Given the description of an element on the screen output the (x, y) to click on. 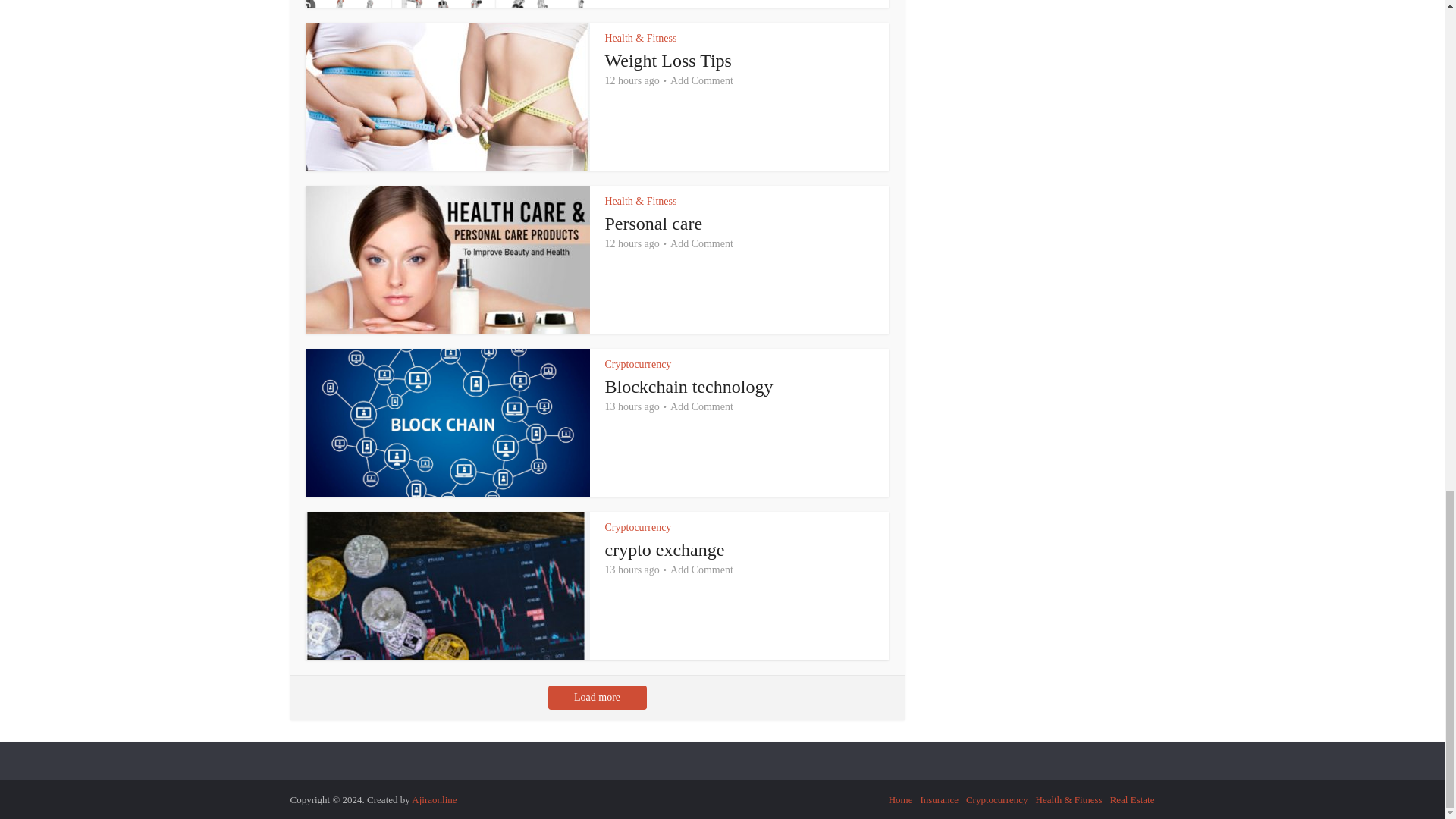
Personal care (654, 223)
Weight Loss Tips (668, 60)
Weight Loss Tips (668, 60)
Personal care (654, 223)
Add Comment (701, 80)
